Given the description of an element on the screen output the (x, y) to click on. 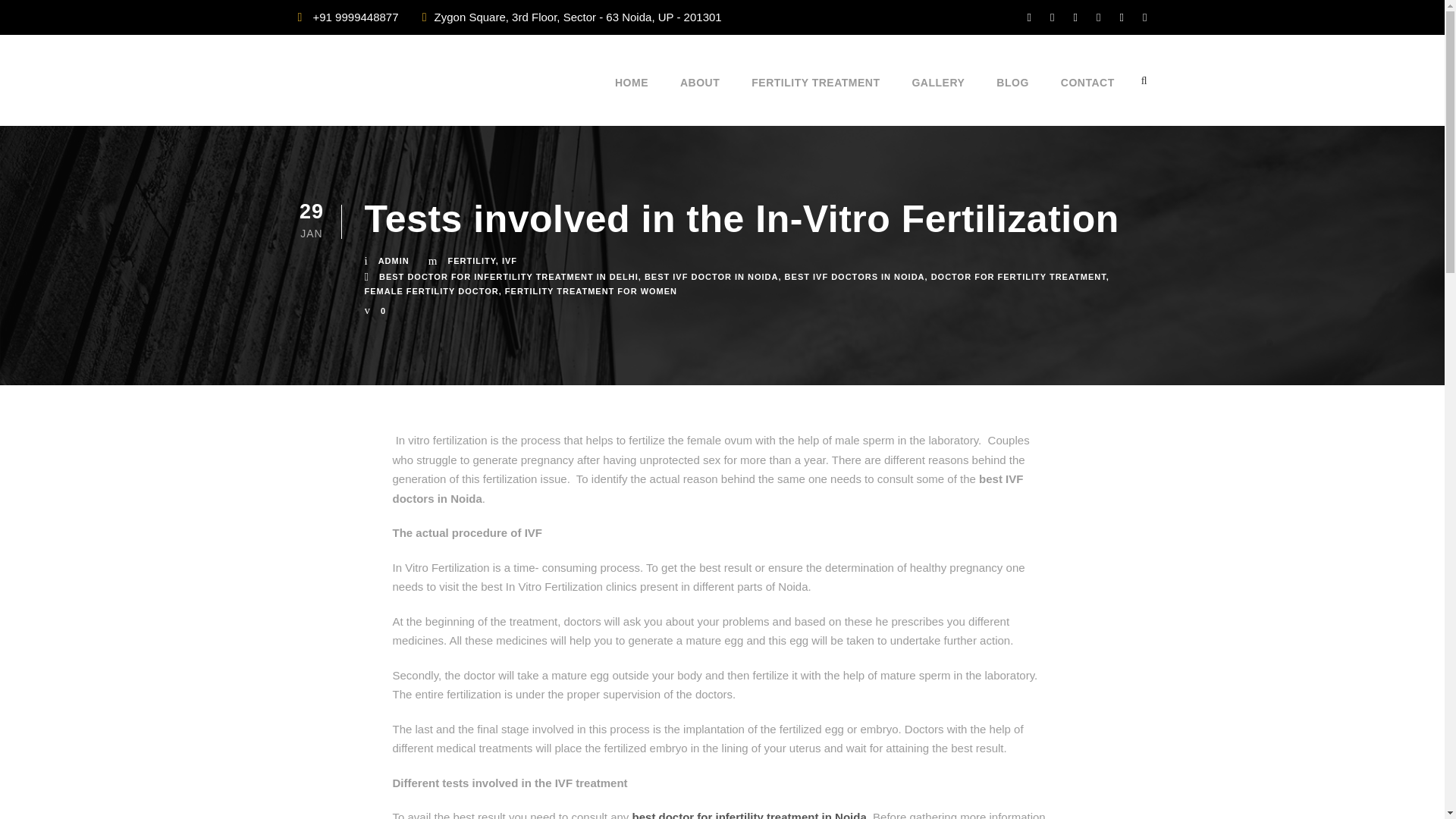
BEST DOCTOR FOR INFERTILITY TREATMENT IN DELHI (508, 276)
DOCTOR FOR FERTILITY TREATMENT (1018, 276)
Posts by admin (393, 260)
FERTILITY TREATMENT (815, 100)
CONTACT (1088, 100)
best doctor for infertility treatment in Noida (748, 814)
FEMALE FERTILITY DOCTOR (430, 290)
FERTILITY (470, 260)
BEST IVF DOCTORS IN NOIDA (854, 276)
ADMIN (393, 260)
